Given the description of an element on the screen output the (x, y) to click on. 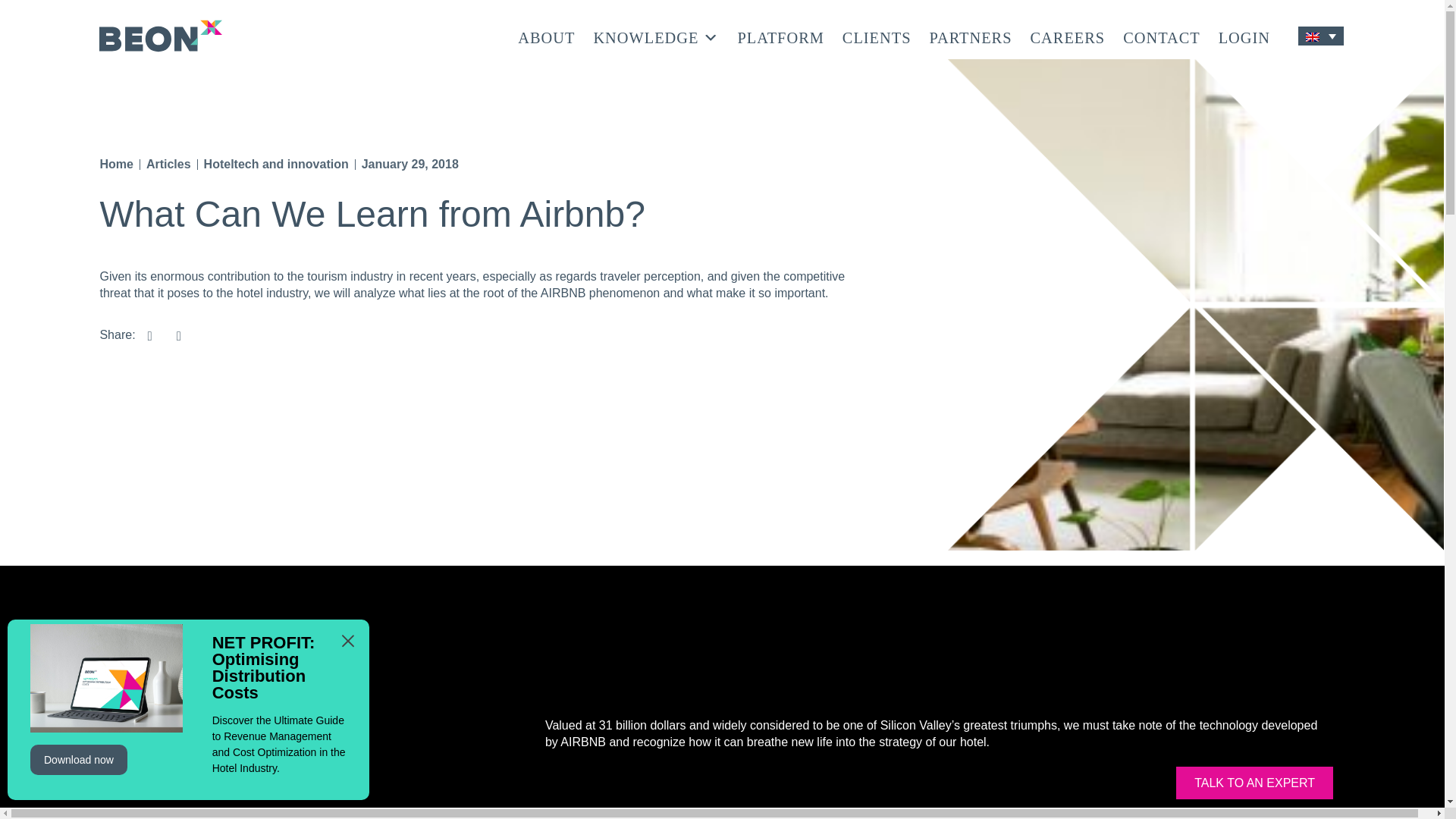
CONTACT (1160, 35)
TALK TO AN EXPERT (1254, 782)
KNOWLEDGE (655, 35)
CLIENTS (877, 35)
Articles (168, 164)
Popup CTA (188, 709)
Hoteltech and innovation (276, 164)
PLATFORM (780, 35)
CAREERS (1067, 35)
ABOUT (546, 35)
Home (115, 164)
PARTNERS (970, 35)
LOGIN (1243, 35)
